Given the description of an element on the screen output the (x, y) to click on. 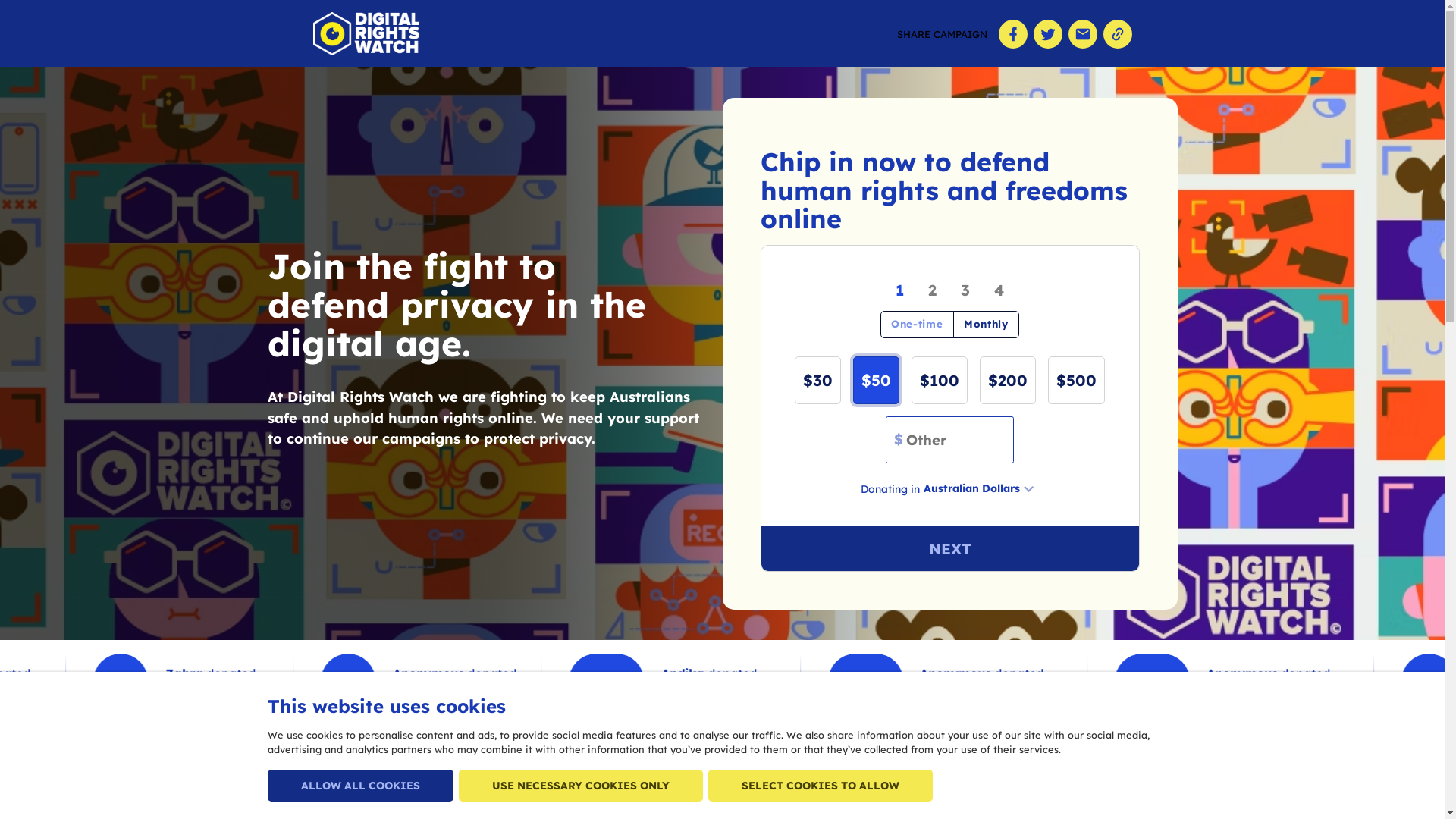
$200 Element type: text (1007, 380)
One-time Element type: text (916, 323)
$100 Element type: text (939, 380)
NEXT Element type: text (949, 548)
Share Element type: hover (1011, 33)
SELECT COOKIES TO ALLOW Element type: text (820, 784)
$30 Element type: text (817, 380)
$50 Element type: text (876, 380)
$500 Element type: text (1076, 380)
USE NECESSARY COOKIES ONLY Element type: text (580, 784)
ALLOW ALL COOKIES Element type: text (359, 784)
Copy Link Element type: hover (1116, 33)
Tweet Element type: hover (1046, 33)
Monthly Element type: text (986, 323)
email Element type: text (1081, 33)
